Given the description of an element on the screen output the (x, y) to click on. 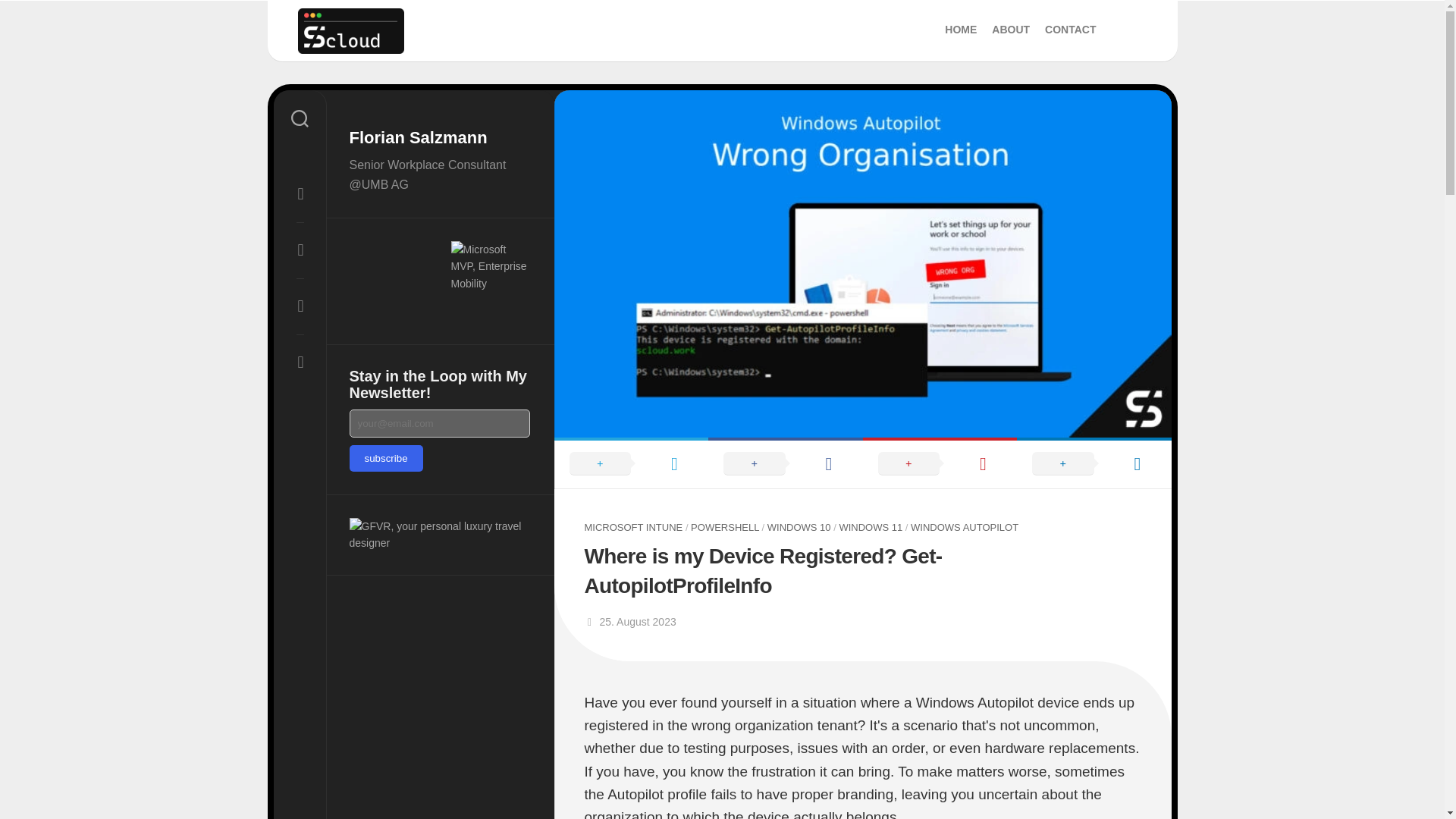
ABOUT (1010, 29)
MICROSOFT INTUNE (632, 527)
WINDOWS 10 (799, 527)
Share on Pinterest (721, 30)
WINDOWS 11 (940, 462)
Share on Facebook (870, 527)
Share on X (785, 462)
HOME (630, 462)
CONTACT (960, 29)
